Given the description of an element on the screen output the (x, y) to click on. 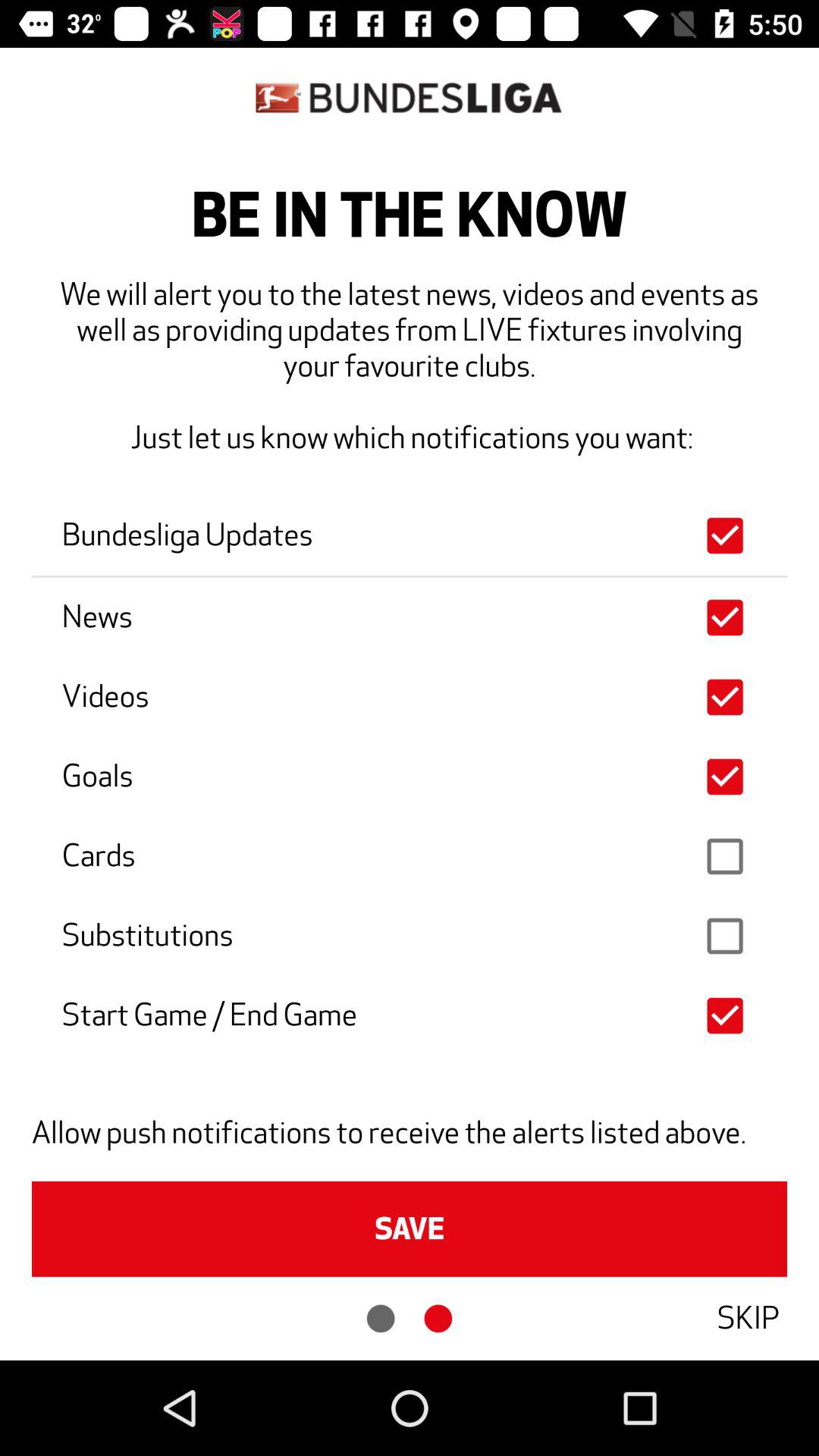
turn on save item (409, 1228)
